Given the description of an element on the screen output the (x, y) to click on. 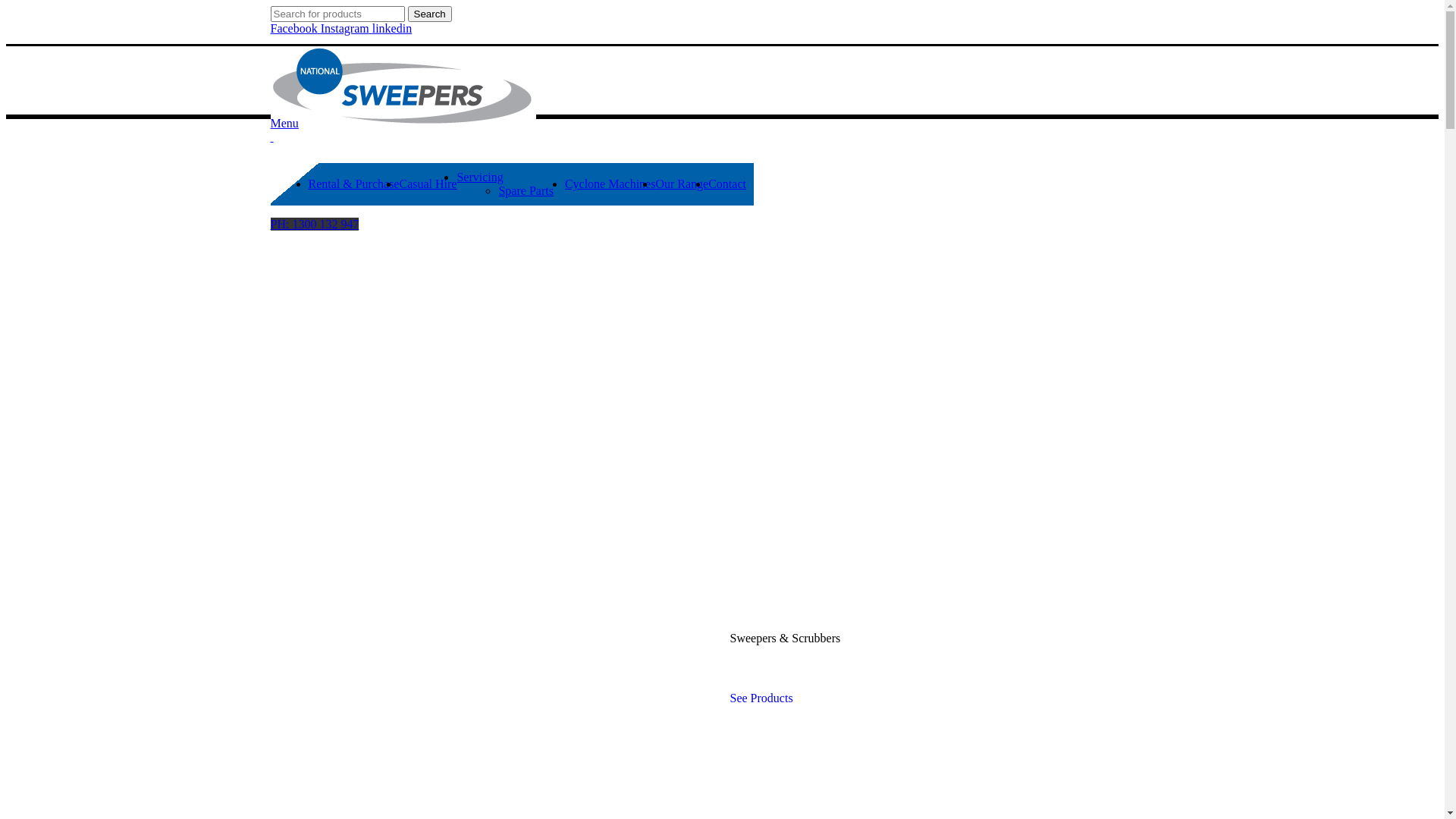
Rental & Purchase Element type: text (352, 183)
Instagram Element type: text (346, 27)
Search Element type: text (429, 13)
linkedin Element type: text (391, 27)
Cyclone Machines Element type: text (609, 183)
Facebook Element type: text (294, 27)
See Products Element type: text (760, 697)
Servicing Element type: text (479, 176)
PH: 1300 132 947 Element type: text (313, 223)
Menu Element type: text (283, 122)
Sweepers & Scrubbers
Walk Behind Equipment
See Products Element type: text (937, 539)
Spare Parts Element type: text (525, 190)
Contact Element type: text (727, 183)
Casual Hire Element type: text (427, 183)
Our Range Element type: text (681, 183)
